Given the description of an element on the screen output the (x, y) to click on. 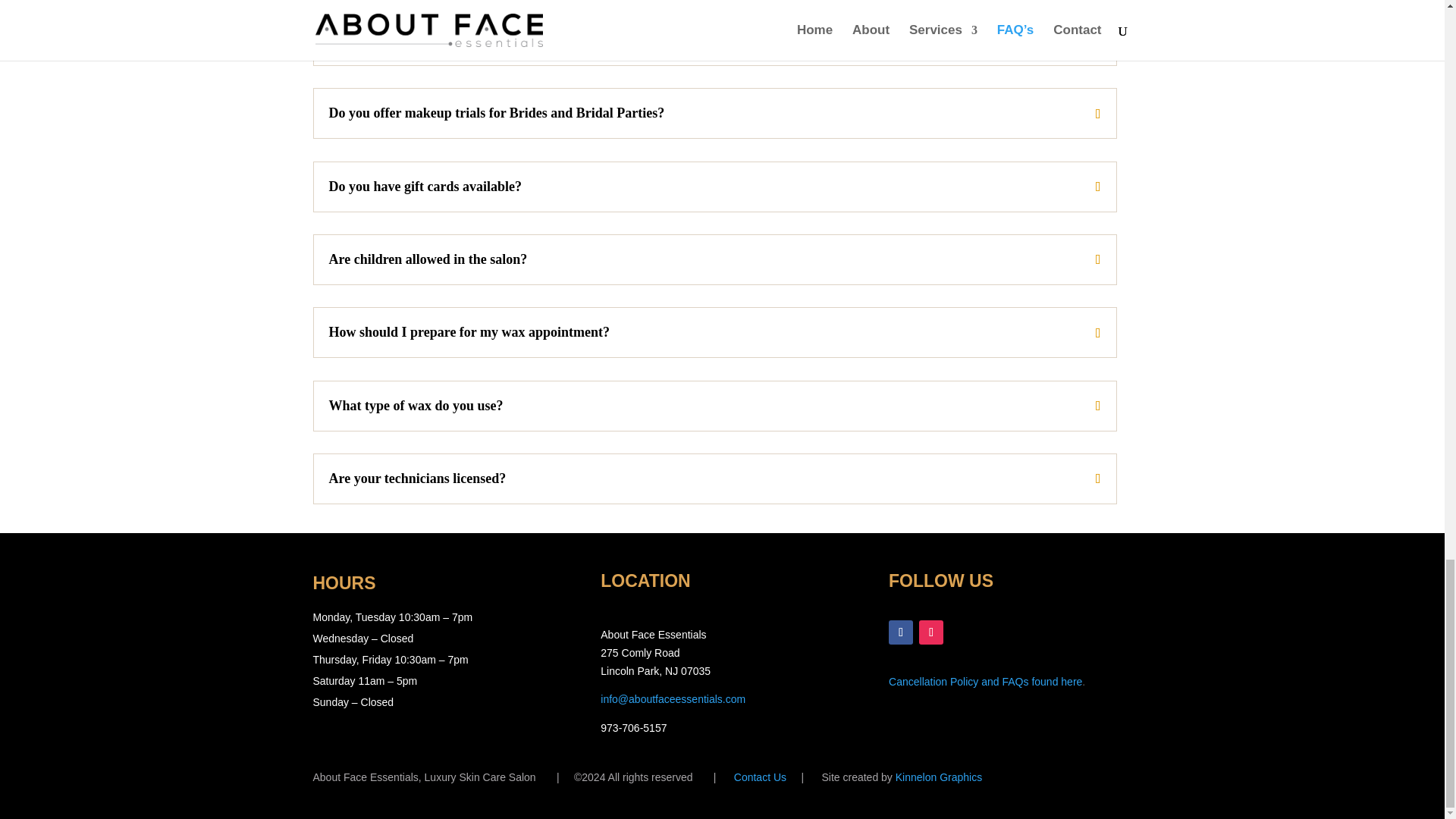
Kinnelon Graphics (938, 776)
Follow on Instagram (930, 631)
Contact Us (759, 776)
Follow on Facebook (900, 631)
Cancellation Policy and FAQs found here (984, 681)
